Given the description of an element on the screen output the (x, y) to click on. 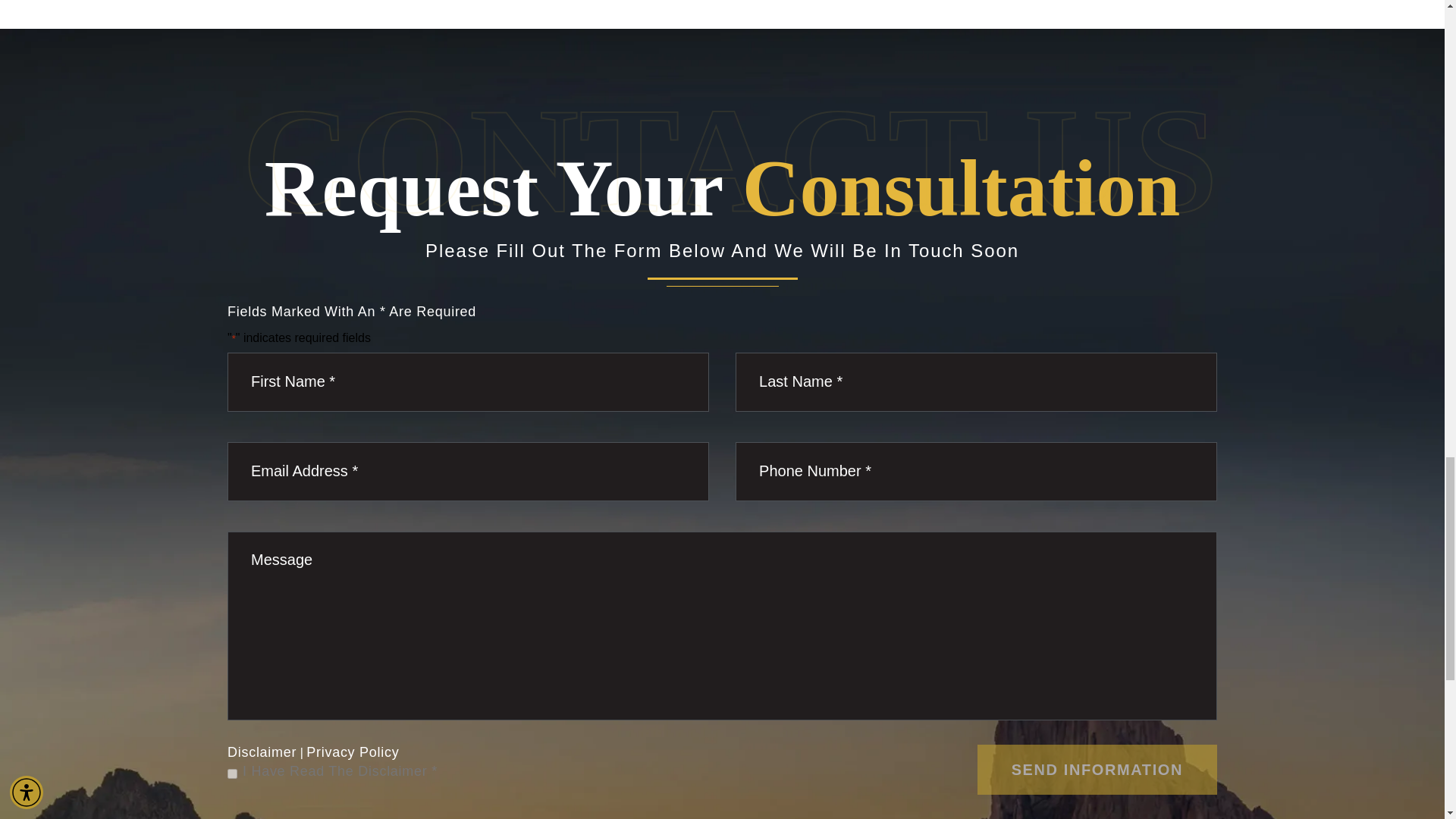
Send Information (1096, 769)
